Given the description of an element on the screen output the (x, y) to click on. 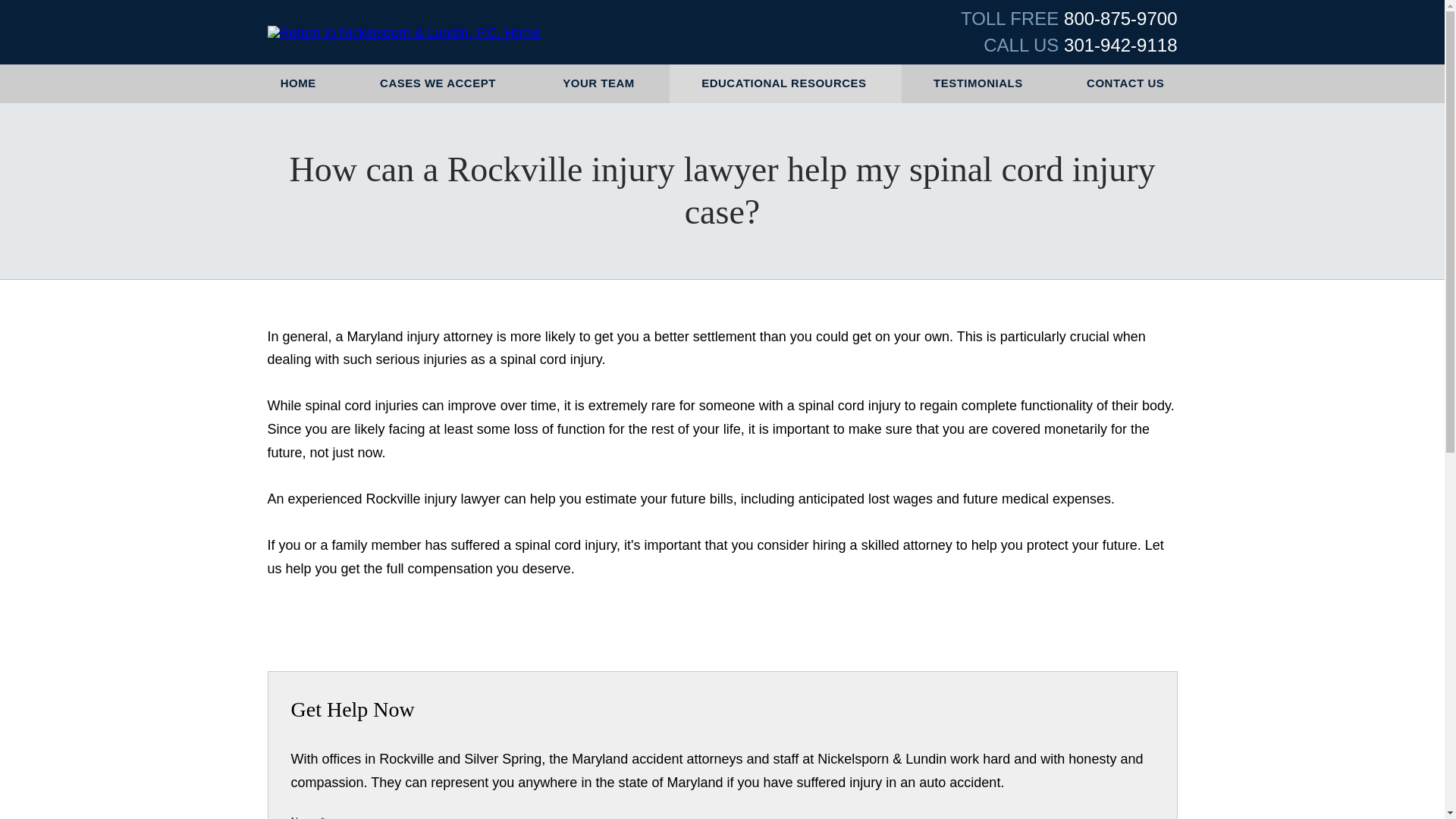
301-942-9118 (1120, 45)
TESTIMONIALS (977, 83)
800-875-9700 (1120, 18)
YOUR TEAM (600, 83)
EDUCATIONAL RESOURCES (785, 83)
CONTACT US (1125, 83)
CASES WE ACCEPT (439, 83)
HOME (297, 83)
